Given the description of an element on the screen output the (x, y) to click on. 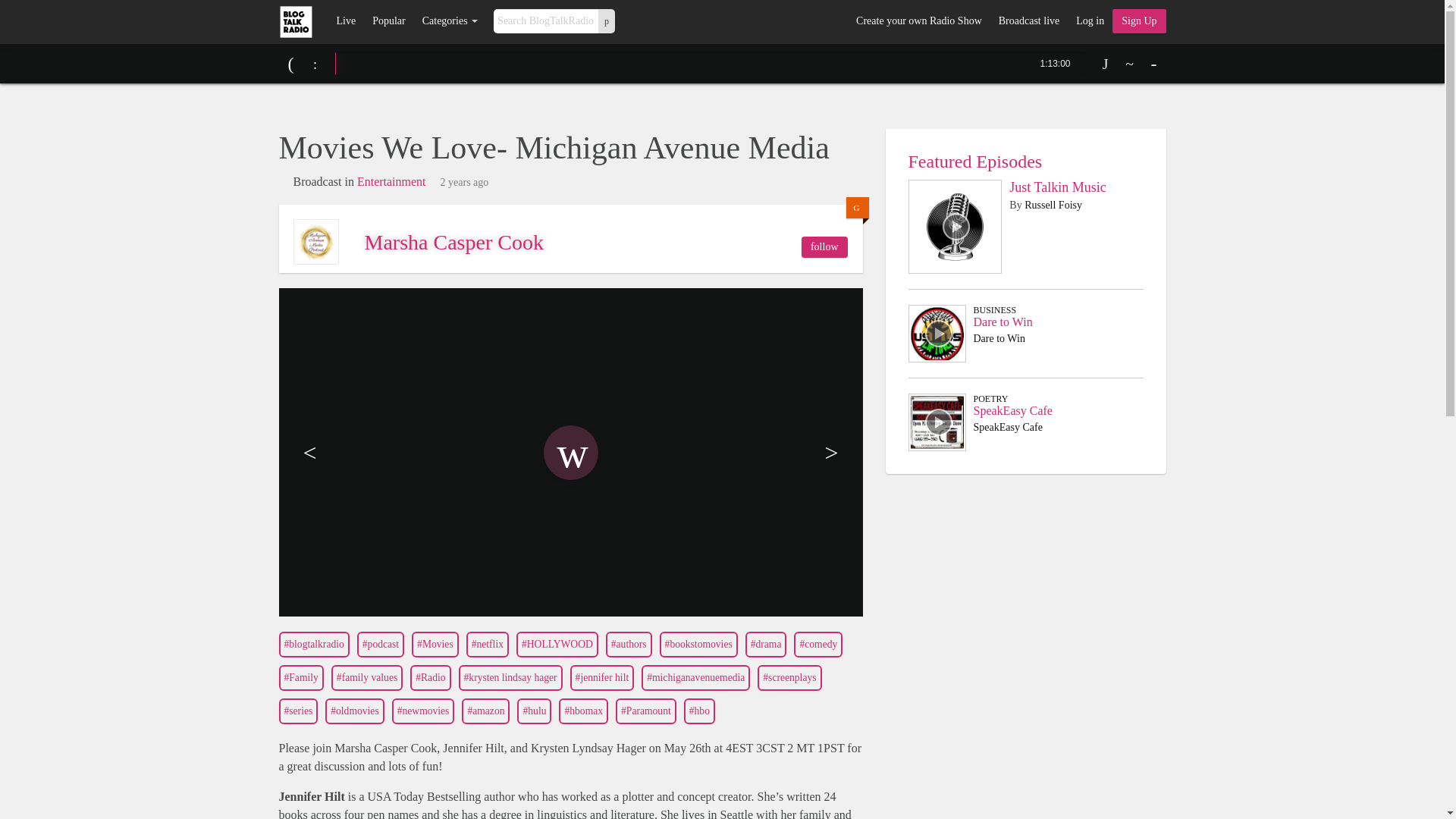
Create My Talk Show (1139, 21)
Embed this episode (1129, 63)
Follow Marsha Casper Cook (824, 246)
Fri, May 27, 2022 04:00 am (465, 182)
Broadcast live (1028, 20)
Live (345, 20)
Popular (388, 20)
Create your own Radio Show (918, 20)
Categories (449, 20)
Sign Up (1139, 21)
